Given the description of an element on the screen output the (x, y) to click on. 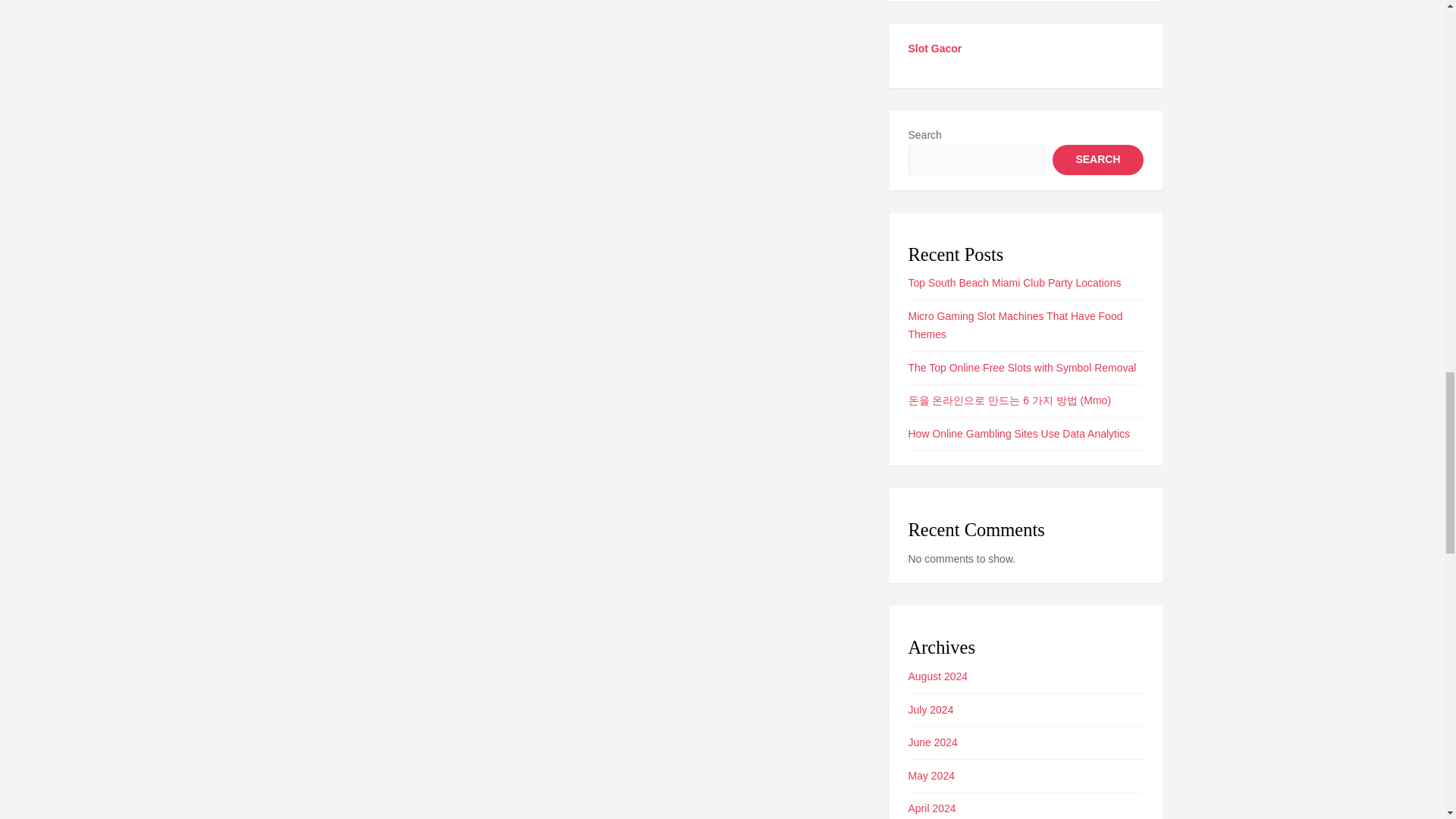
June 2024 (933, 742)
Slot Gacor (935, 48)
Micro Gaming Slot Machines That Have Food Themes (1015, 325)
SEARCH (1097, 159)
August 2024 (938, 676)
How Online Gambling Sites Use Data Analytics (1019, 433)
The Top Online Free Slots with Symbol Removal (1022, 367)
July 2024 (930, 709)
Top South Beach Miami Club Party Locations (1014, 282)
